Given the description of an element on the screen output the (x, y) to click on. 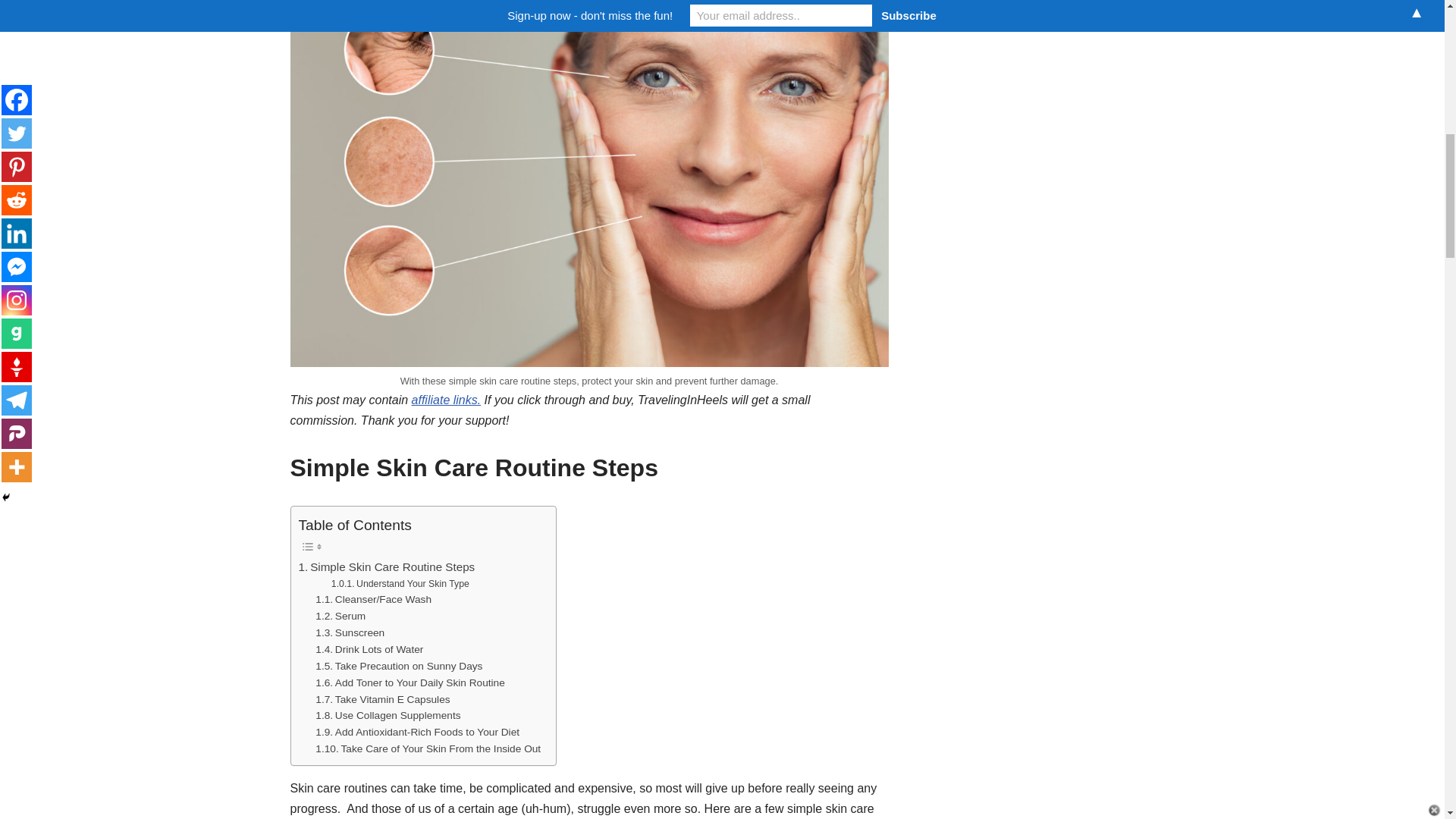
Use Collagen Supplements (387, 715)
Take Precaution on Sunny Days (398, 666)
Take Vitamin E Capsules (382, 699)
Sunscreen (349, 632)
Add Toner to Your Daily Skin Routine (410, 682)
Add Antioxidant-Rich Foods to Your Diet (417, 732)
Drink Lots of Water (369, 649)
Simple Skin Care Routine Steps (387, 566)
Serum (340, 616)
Take Care of Your Skin From the Inside Out (427, 749)
